Given the description of an element on the screen output the (x, y) to click on. 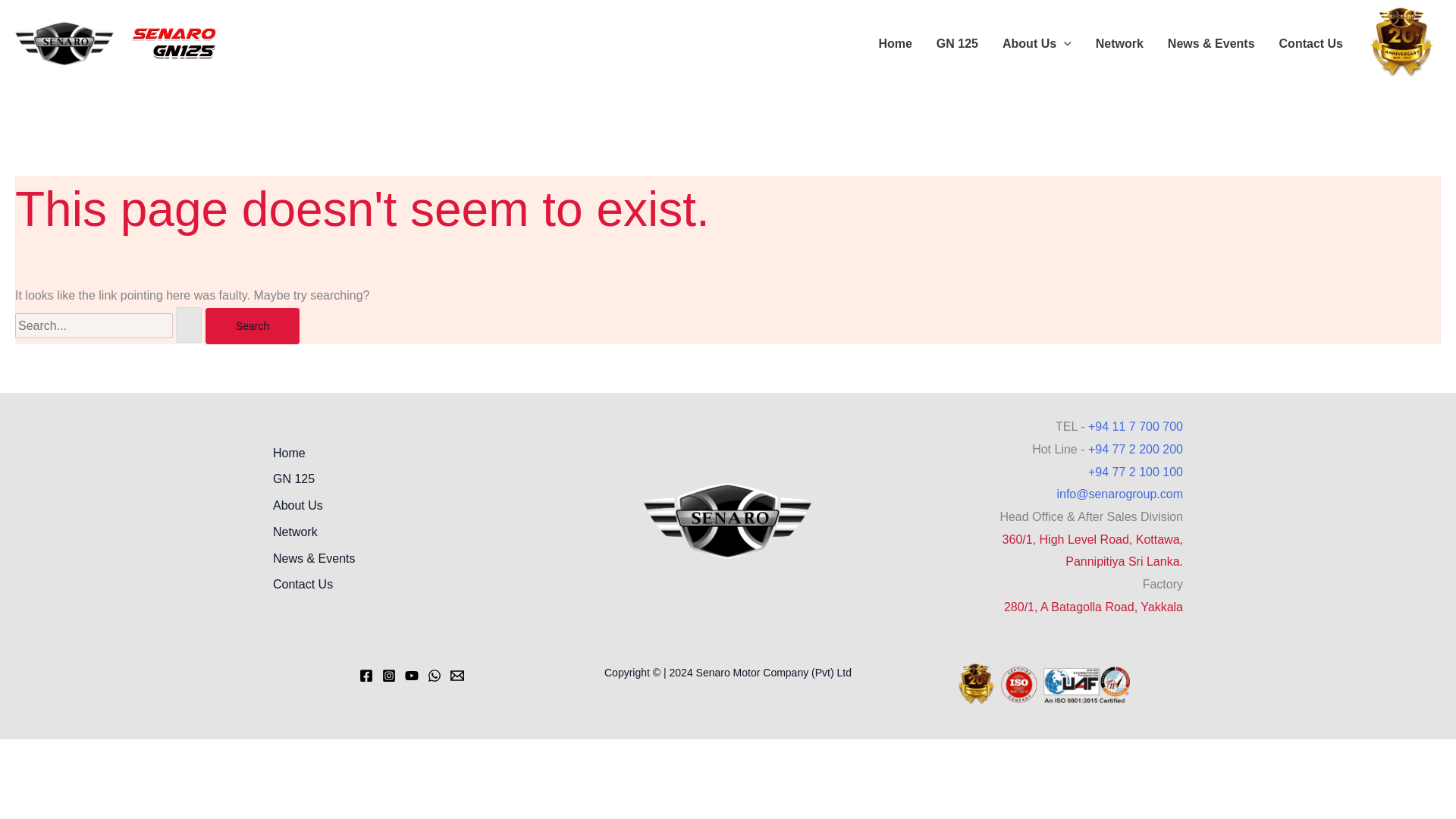
Contact Us (308, 586)
GN 125 (299, 480)
Network (1119, 43)
Network (301, 533)
About Us (1036, 43)
Contact Us (1310, 43)
Home (894, 43)
About Us (303, 507)
Search (252, 325)
Search (252, 325)
